Given the description of an element on the screen output the (x, y) to click on. 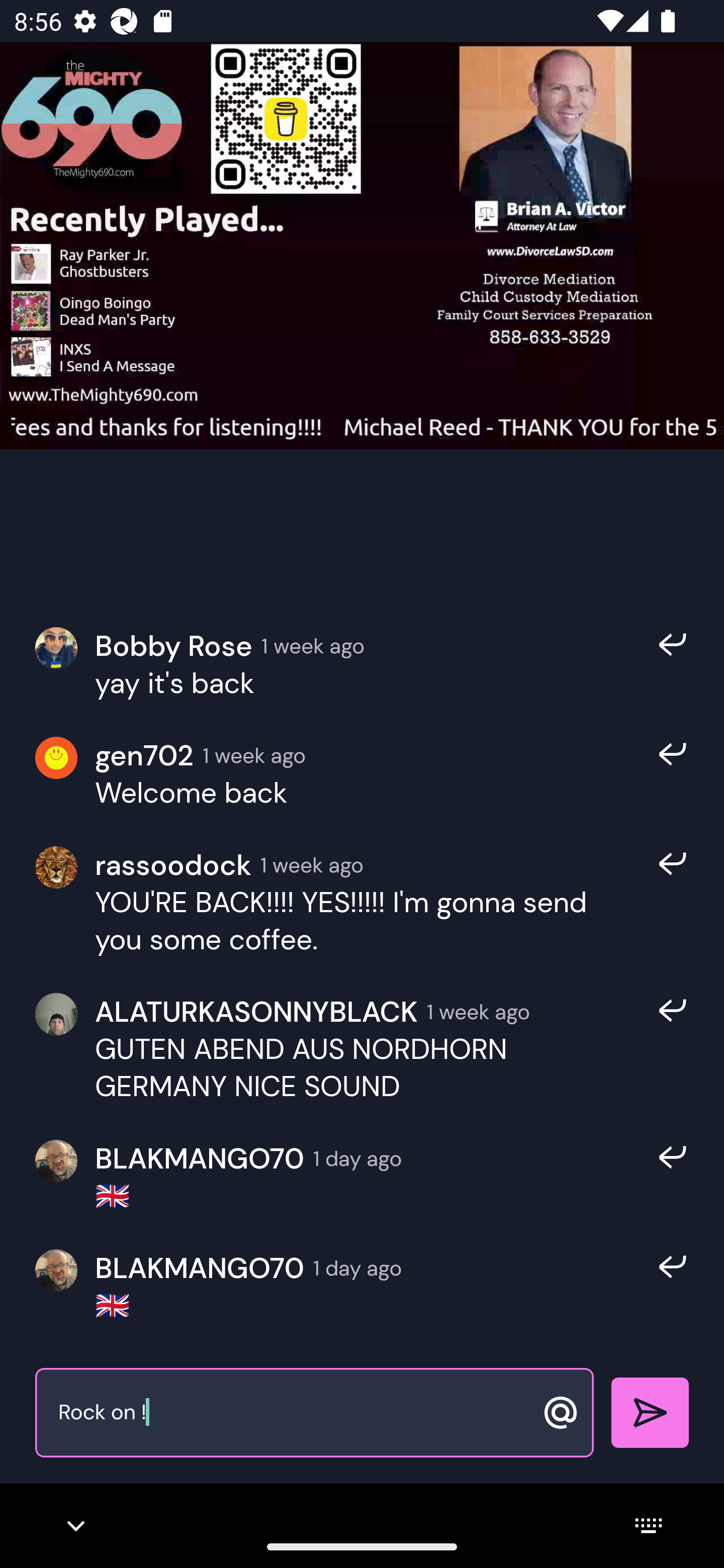
Bobby Rose (173, 645)
gen702 (143, 755)
rassoodock (172, 864)
ALATURKASONNYBLACK (255, 1011)
BLAKMANGO70 (199, 1158)
BLAKMANGO70 (199, 1268)
Rock on ! (292, 1413)
